Given the description of an element on the screen output the (x, y) to click on. 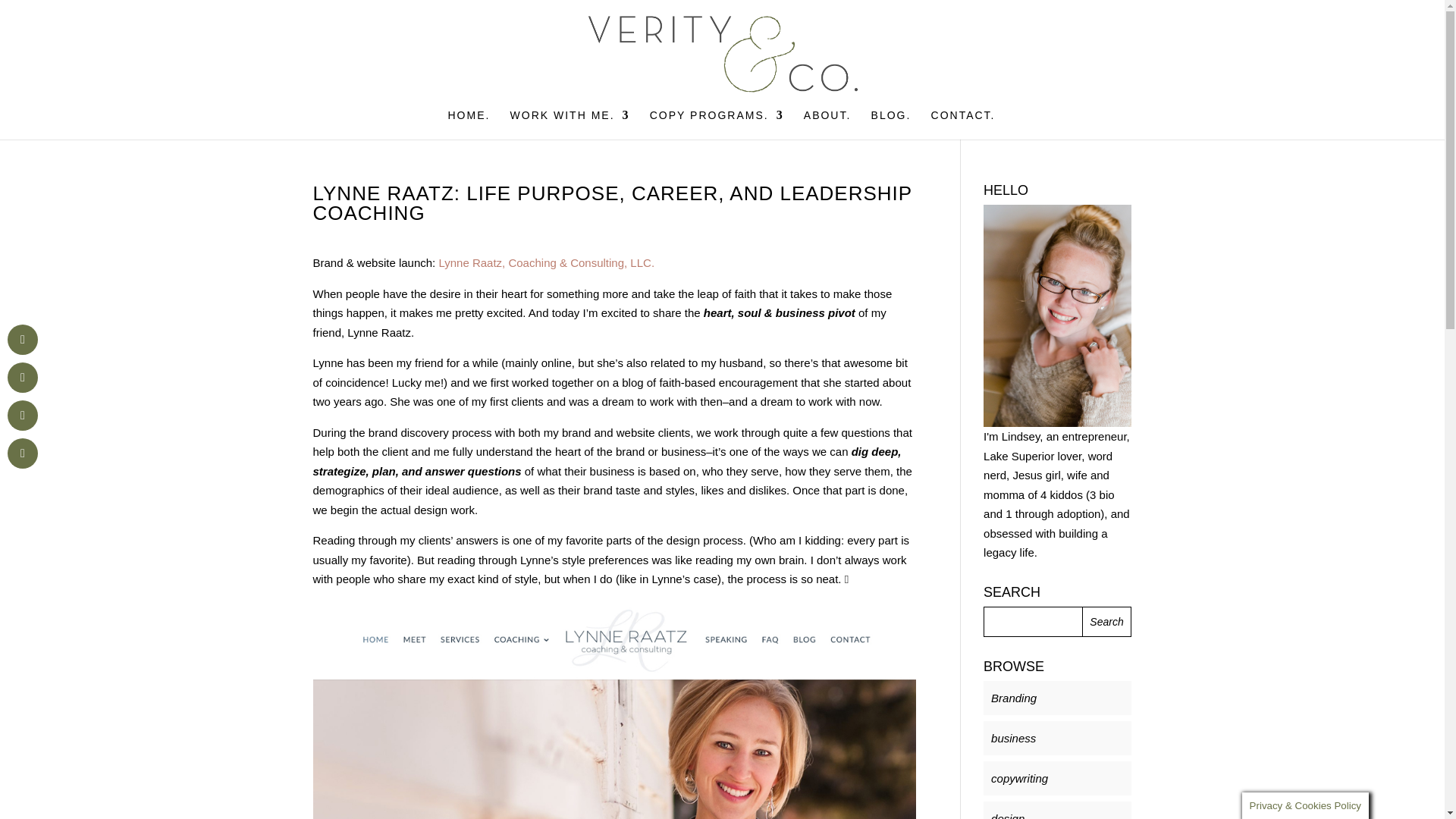
ABOUT. (827, 124)
Search (1106, 621)
WORK WITH ME. (570, 124)
HOME. (467, 124)
Search (1106, 621)
Branding (1013, 697)
BLOG. (890, 124)
business (1013, 738)
CONTACT. (963, 124)
copywriting (1019, 778)
COPY PROGRAMS. (716, 124)
design (1008, 815)
